Given the description of an element on the screen output the (x, y) to click on. 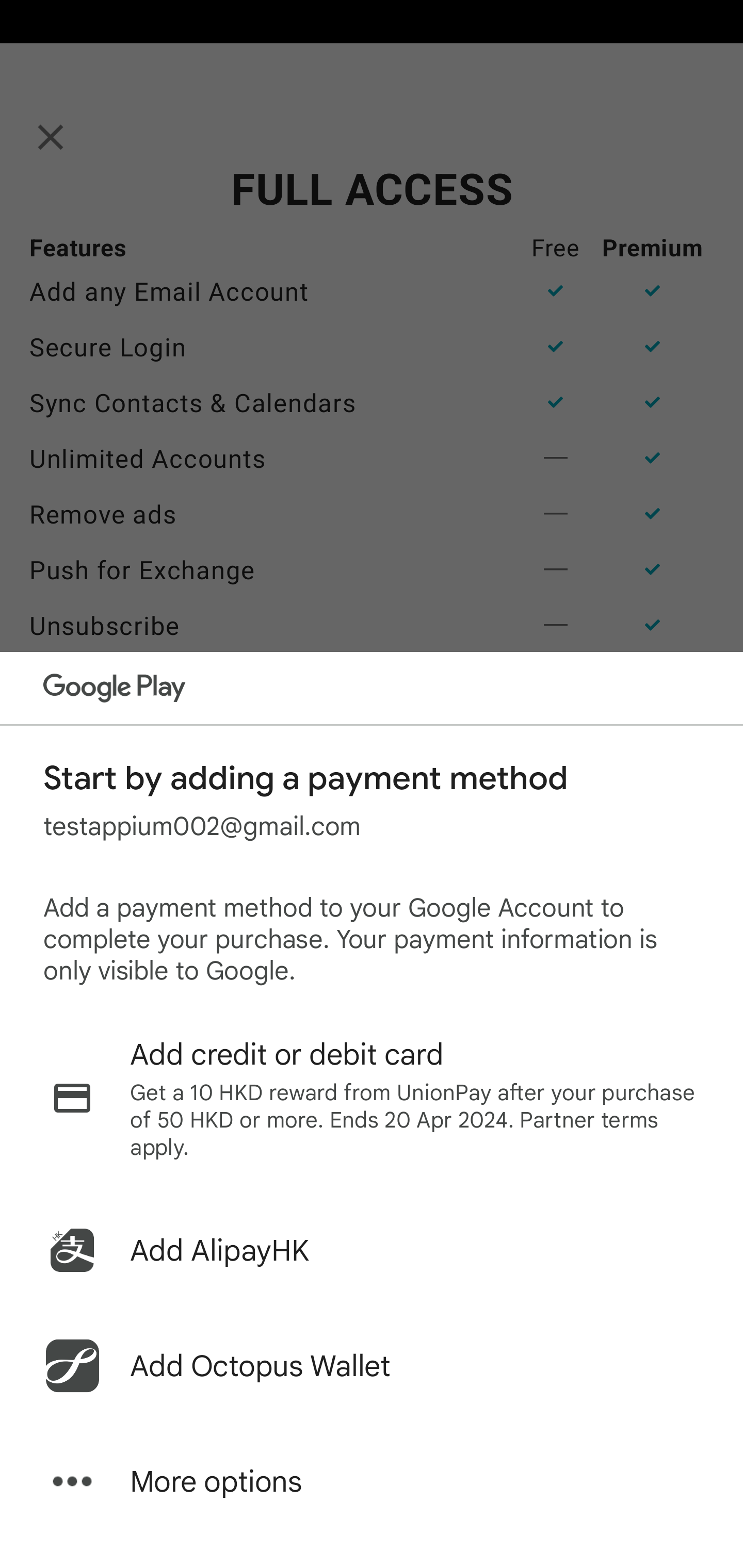
Add AlipayHK (371, 1250)
Add Octopus Wallet (371, 1365)
More options (371, 1481)
